Given the description of an element on the screen output the (x, y) to click on. 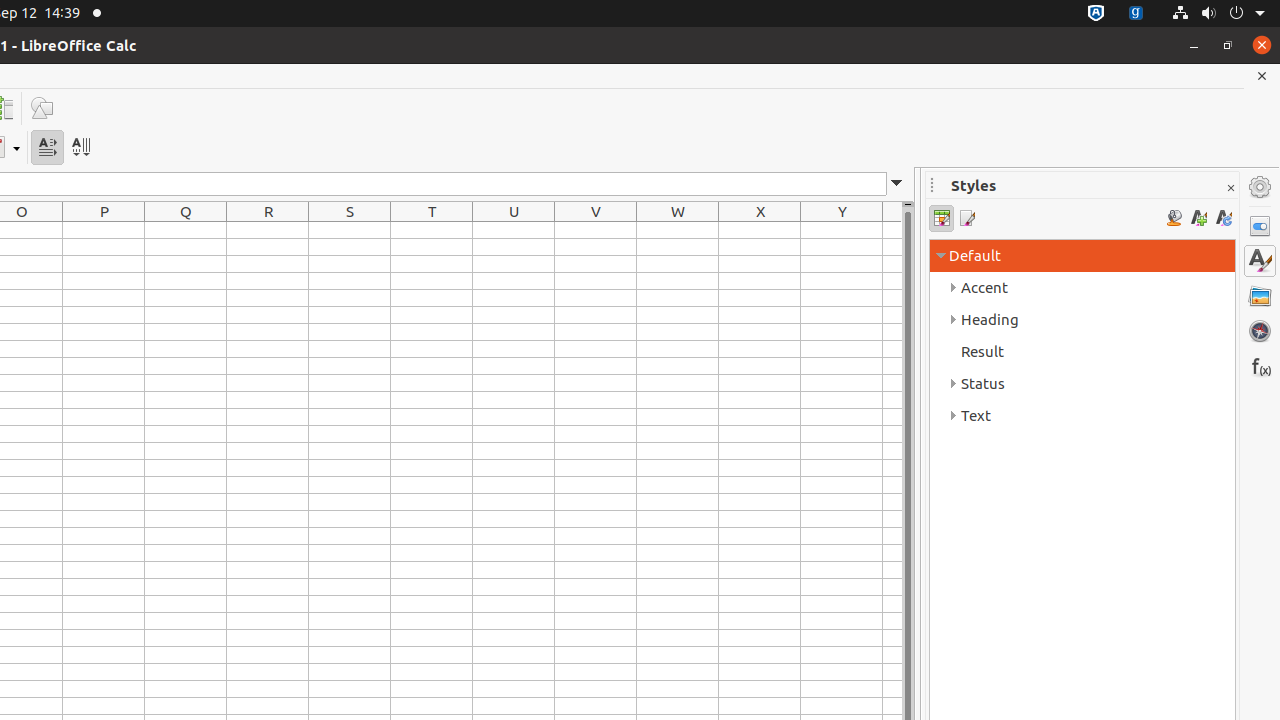
Expand Formula Bar Element type: push-button (897, 183)
Draw Functions Element type: toggle-button (41, 108)
S1 Element type: table-cell (350, 230)
Properties Element type: radio-button (1260, 226)
Text direction from top to bottom Element type: toggle-button (80, 147)
